Given the description of an element on the screen output the (x, y) to click on. 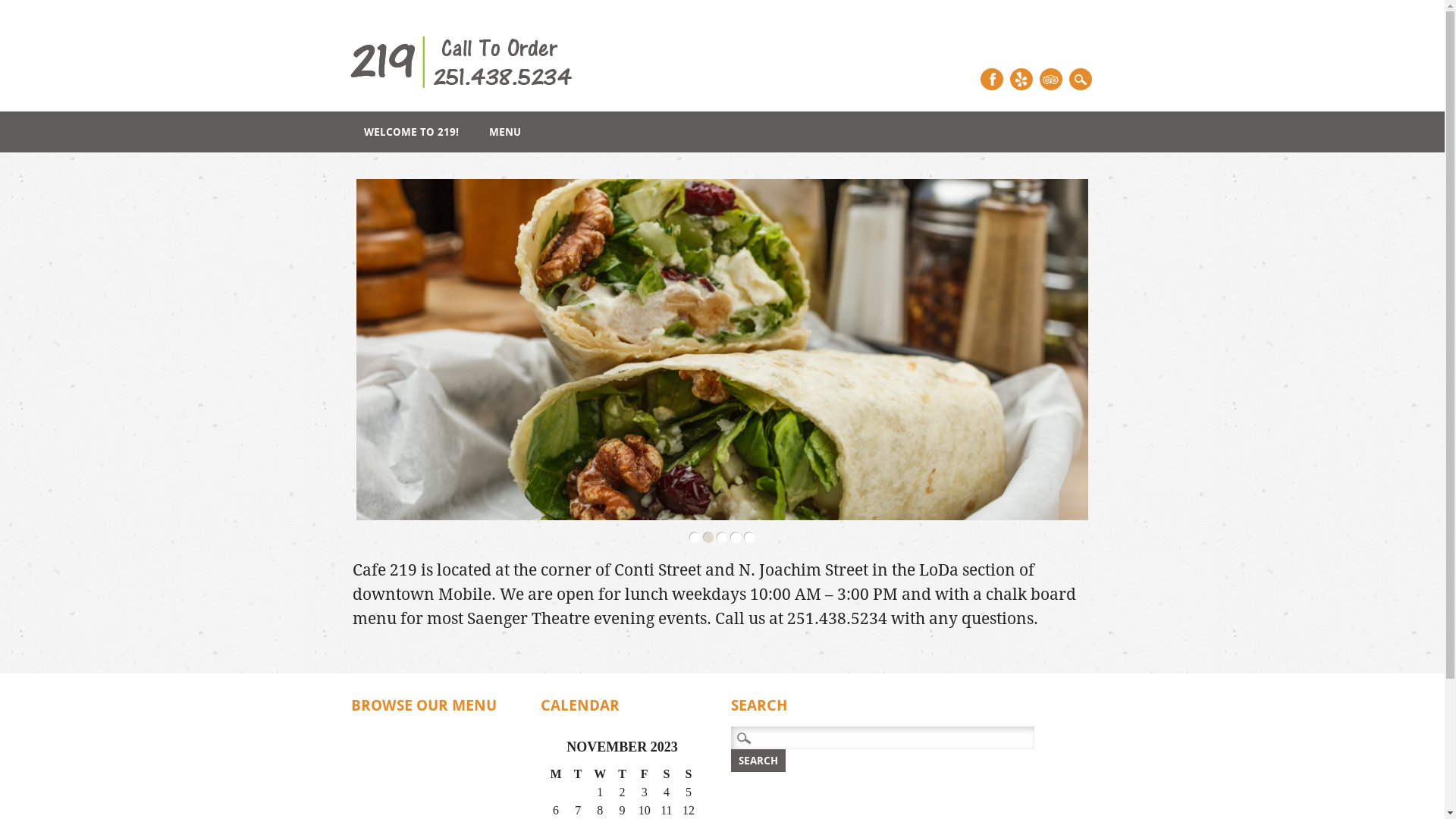
Search Element type: text (758, 760)
MENU Element type: text (504, 131)
Skip to content Element type: text (36, 119)
Yelp Element type: text (1021, 79)
WELCOME TO 219! Element type: text (410, 131)
Tripadvisor Element type: text (1050, 79)
Facebook Element type: text (991, 79)
219 Element type: hover (462, 93)
